Given the description of an element on the screen output the (x, y) to click on. 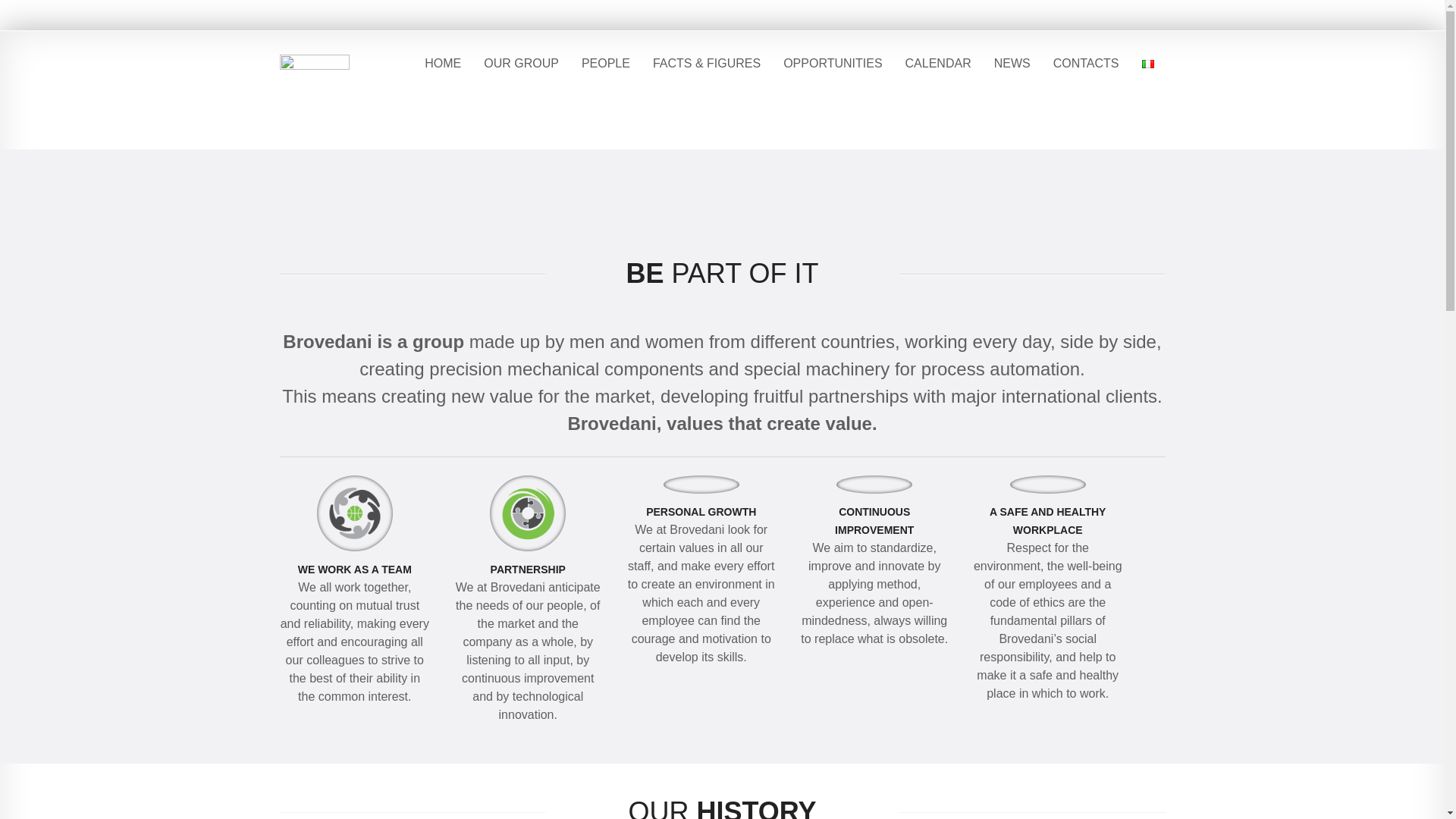
OUR GROUP (520, 63)
PEOPLE (606, 63)
NEWS (1012, 63)
CONTACTS (1086, 63)
CALENDAR (937, 63)
OPPORTUNITIES (832, 63)
HOME (442, 63)
